Given the description of an element on the screen output the (x, y) to click on. 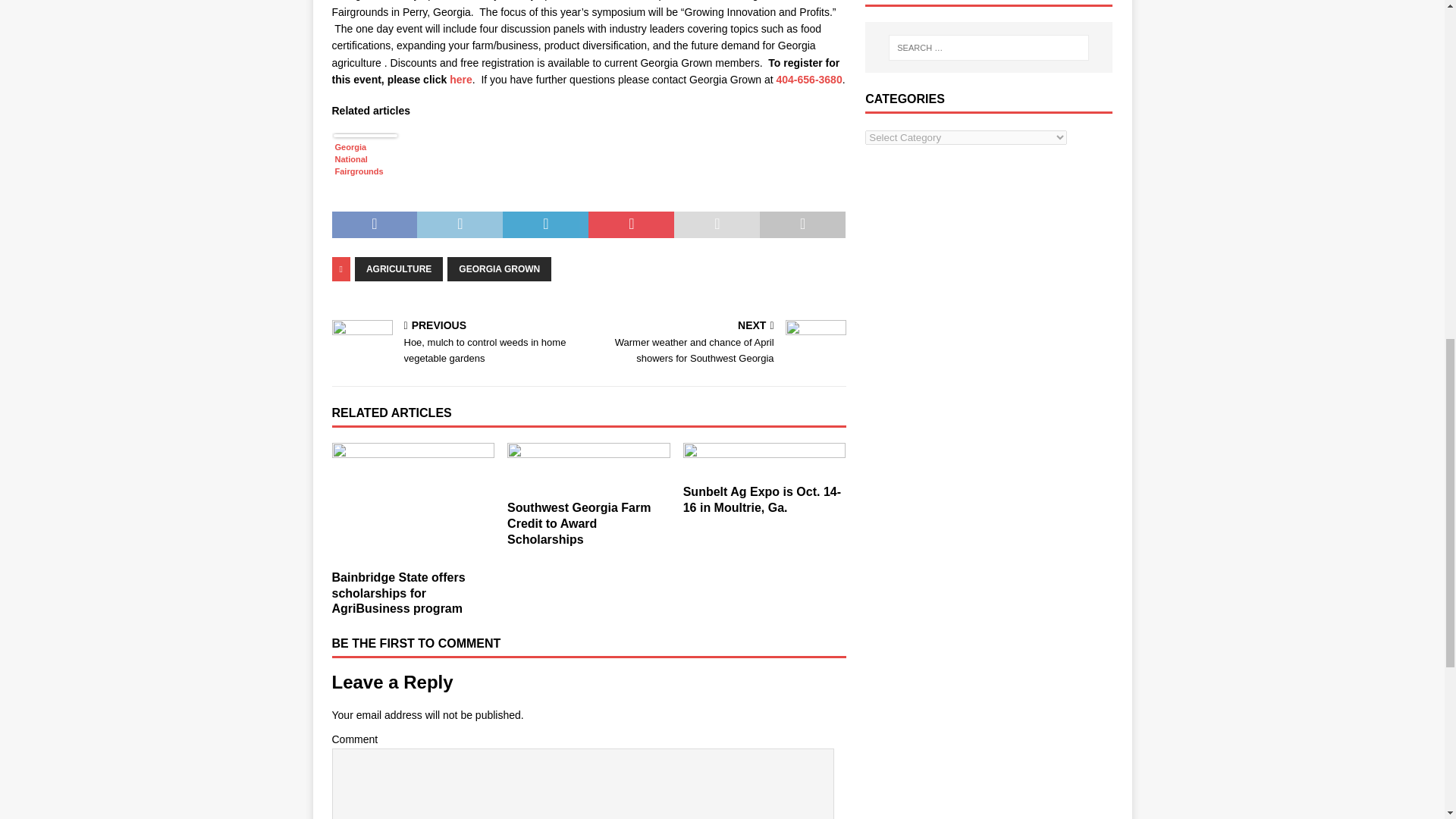
Georgia National Fairgrounds (365, 170)
AGRICULTURE (398, 269)
here (460, 79)
404-656-3680 (809, 79)
